Given the description of an element on the screen output the (x, y) to click on. 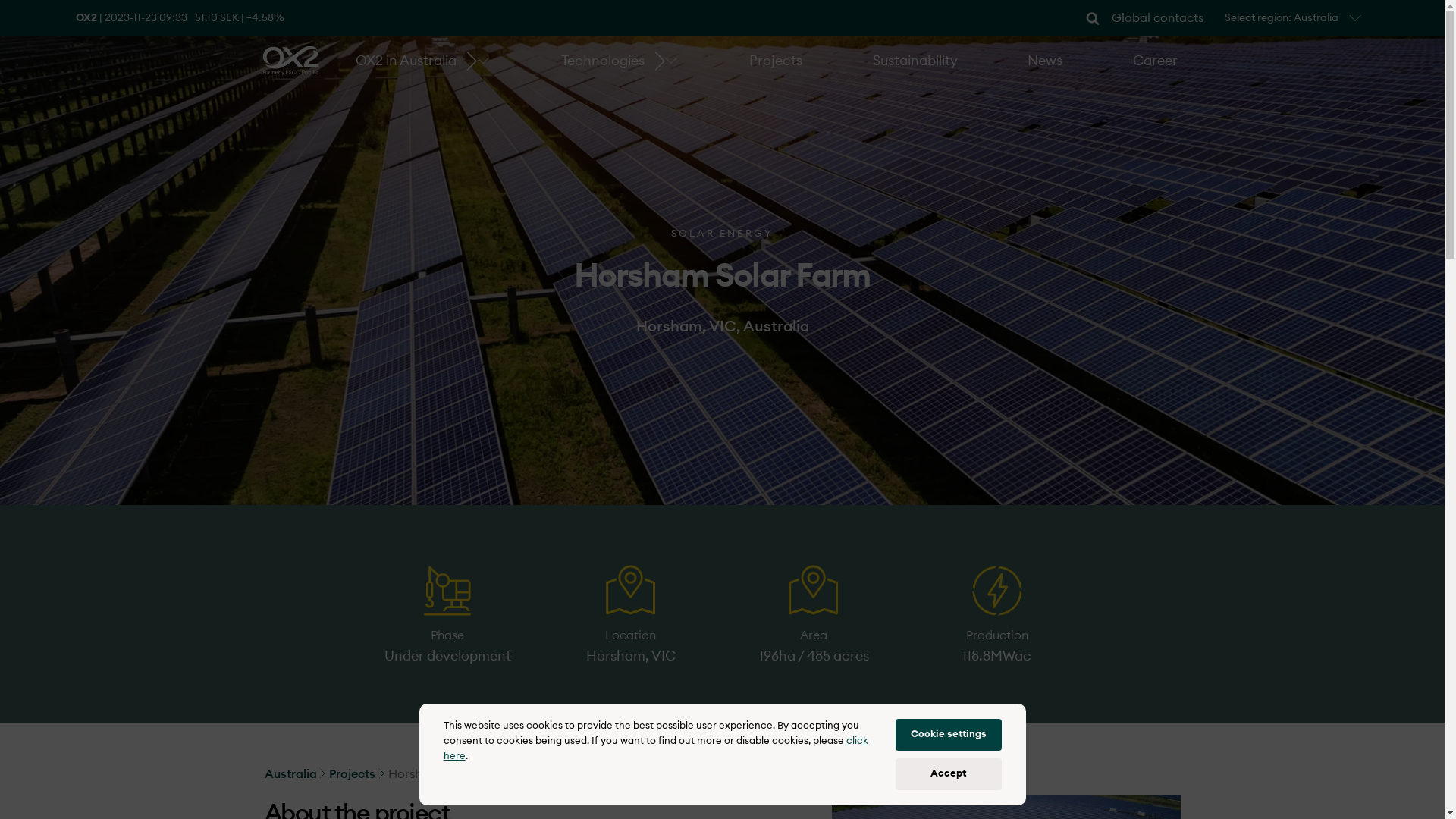
Technologies Element type: text (602, 60)
Sustainability Element type: text (914, 60)
Projects Element type: text (775, 60)
OX2 in Australia Element type: text (405, 60)
Australia Element type: text (294, 774)
Cookie settings Element type: text (947, 734)
News Element type: text (1044, 60)
Career Element type: text (1154, 60)
Projects Element type: text (356, 774)
click here Element type: text (654, 748)
Accept Element type: text (947, 774)
Global contacts Element type: text (1157, 18)
